Given the description of an element on the screen output the (x, y) to click on. 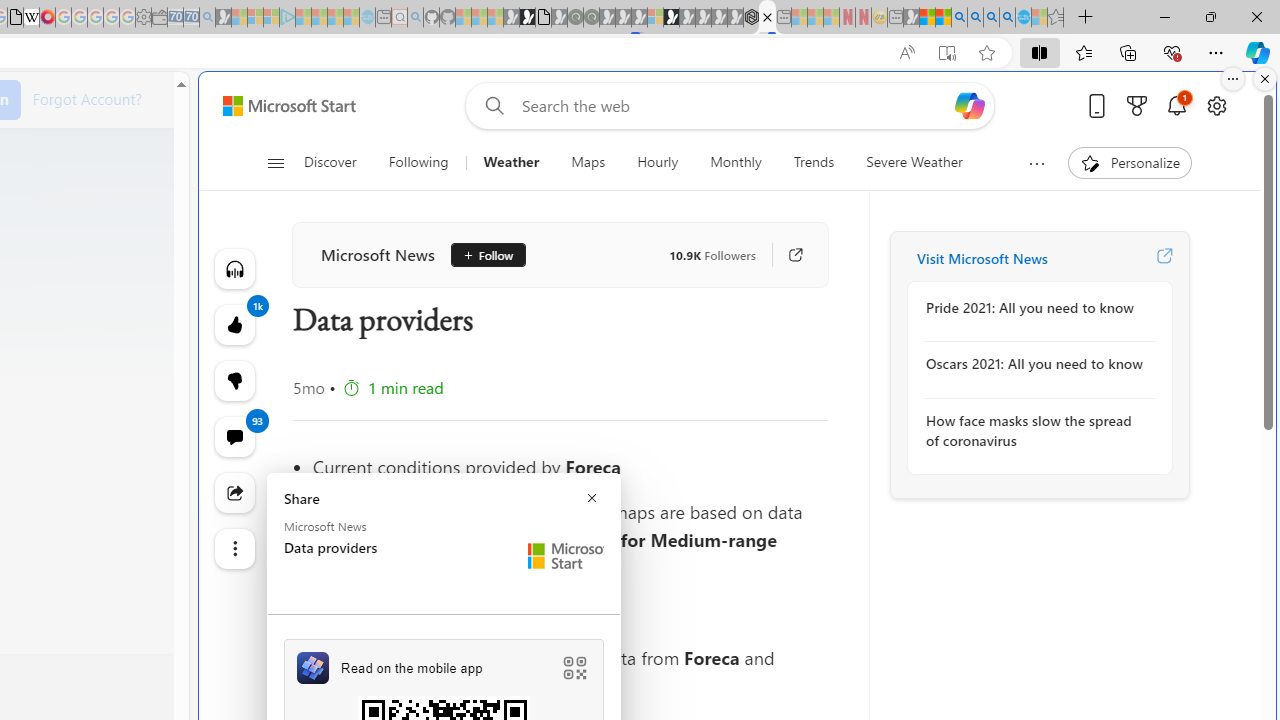
Services - Maintenance | Sky Blue Bikes - Sky Blue Bikes (1023, 17)
Sign in to your account - Sleeping (655, 17)
Play Zoo Boom in your browser | Games from Microsoft Start (527, 17)
Forgot Account? (87, 97)
Follow (480, 255)
View comments 93 Comment (234, 436)
Microsoft News (377, 254)
